Given the description of an element on the screen output the (x, y) to click on. 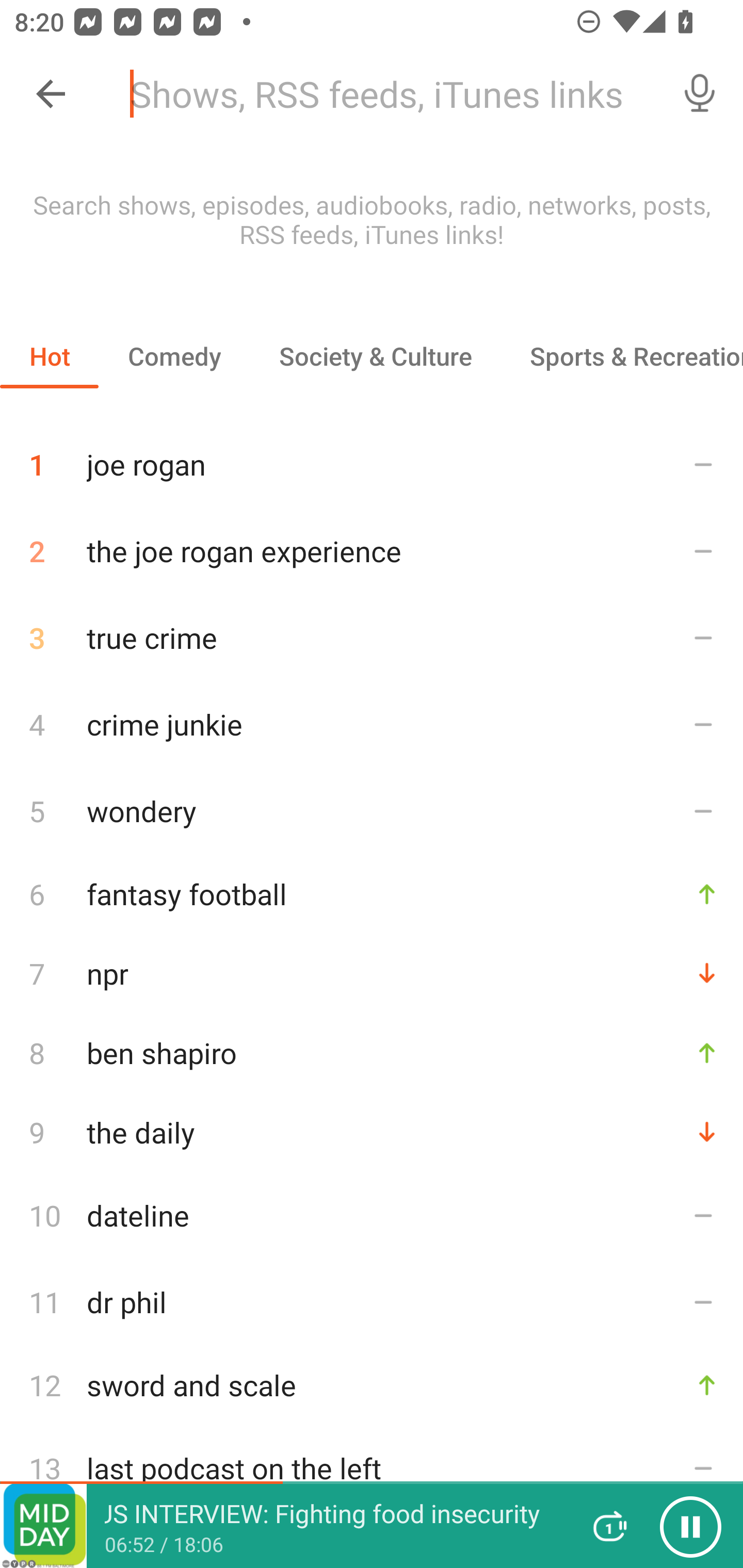
Collapse (50, 93)
Voice Search (699, 93)
Shows, RSS feeds, iTunes links (385, 94)
Hot (49, 355)
Comedy (173, 355)
Society & Culture (374, 355)
Sports & Recreation (621, 355)
1 joe rogan (371, 457)
2 the joe rogan experience (371, 551)
3 true crime (371, 637)
4 crime junkie (371, 723)
5 wondery (371, 810)
6 fantasy football (371, 893)
7 npr (371, 972)
8 ben shapiro (371, 1052)
9 the daily (371, 1131)
10 dateline (371, 1215)
11 dr phil (371, 1302)
12 sword and scale (371, 1385)
